Given the description of an element on the screen output the (x, y) to click on. 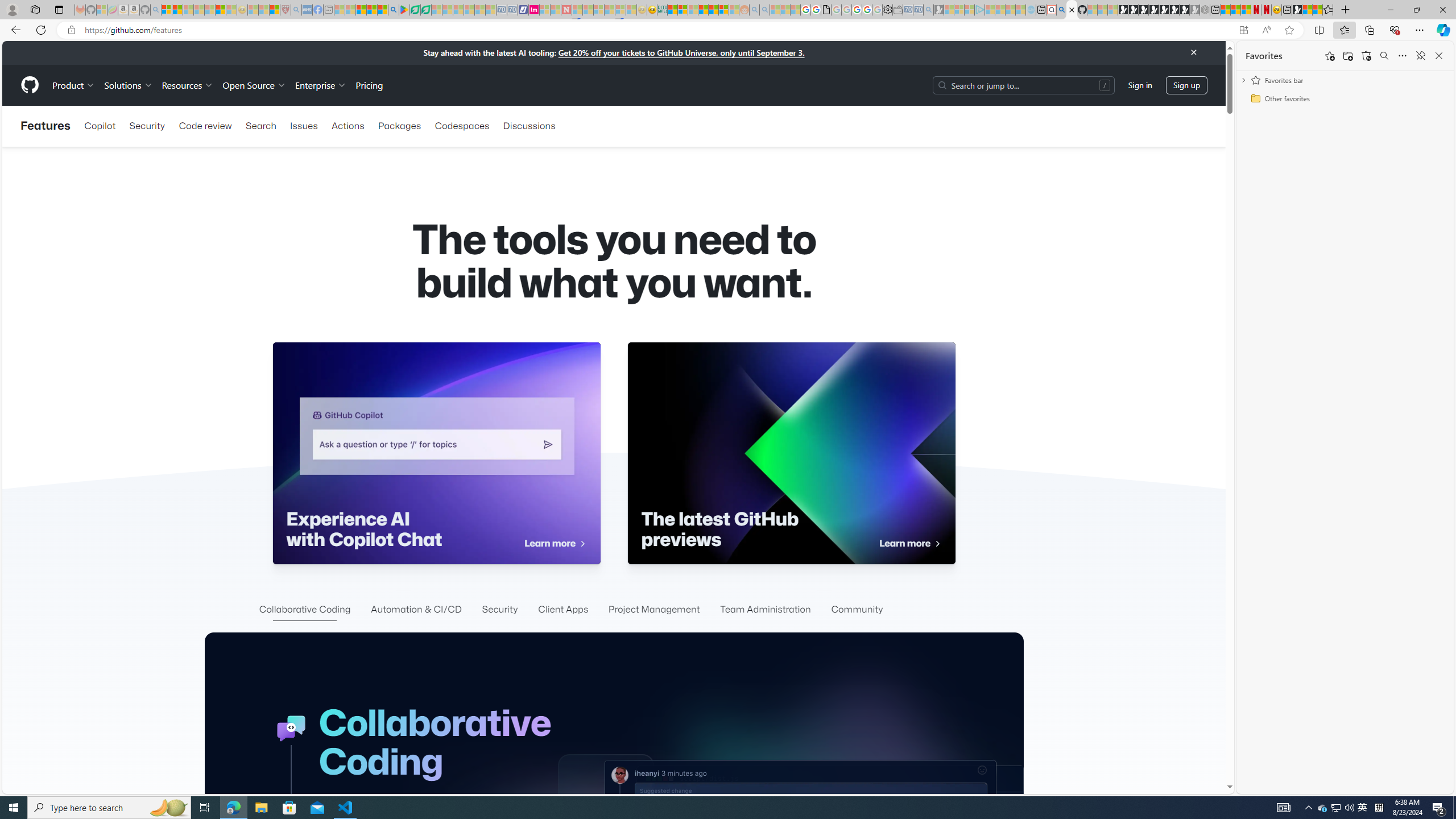
Solutions (128, 84)
Team Administration (764, 609)
Experience AI with Copilot Chat Learn more  (435, 453)
